Given the description of an element on the screen output the (x, y) to click on. 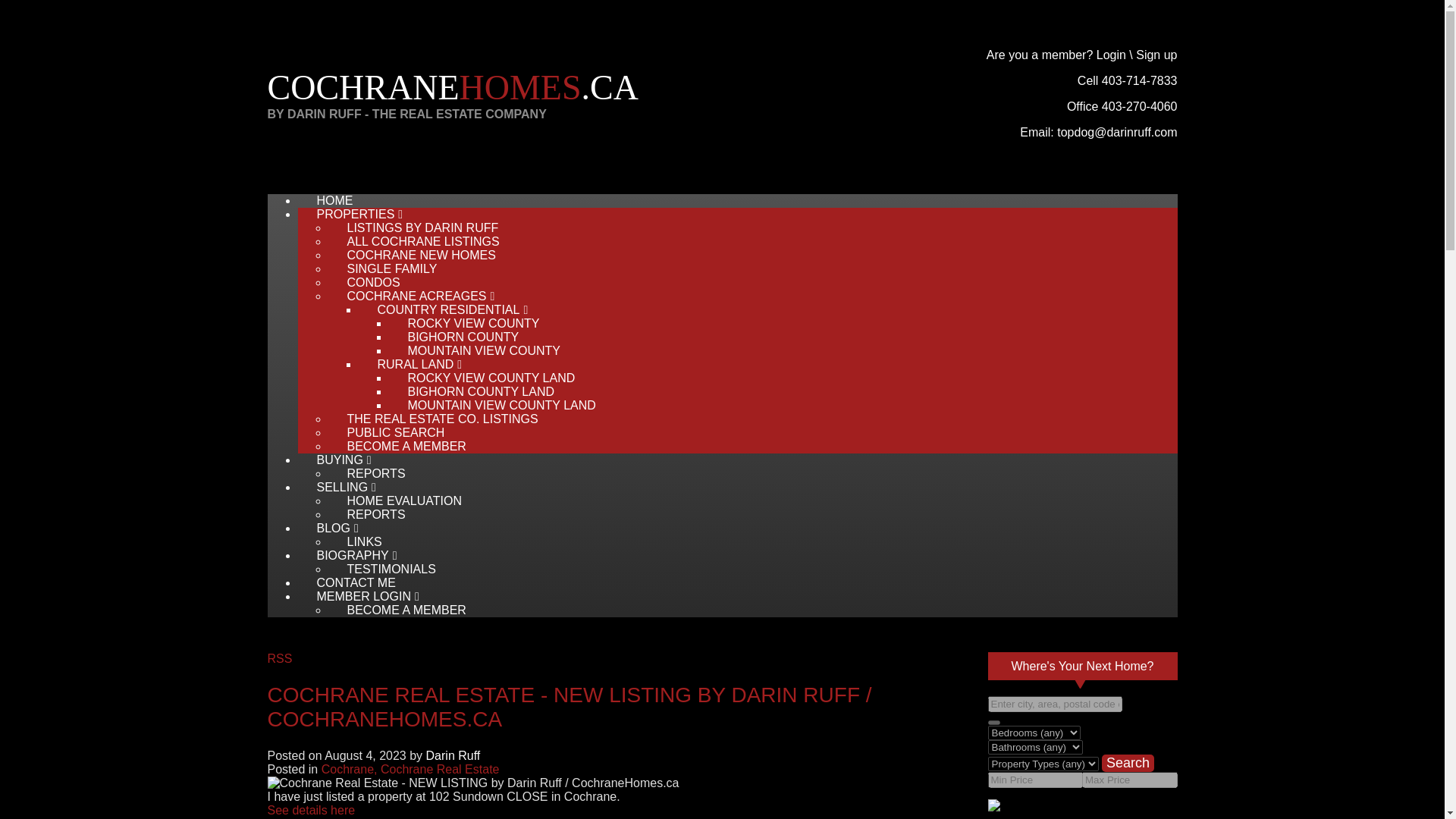
PUBLIC SEARCH (387, 432)
Login (1110, 54)
BLOG (325, 528)
MOUNTAIN VIEW COUNTY (475, 350)
BUYING (331, 459)
BIGHORN COUNTY LAND (472, 391)
BIGHORN COUNTY (455, 336)
COCHRANE ACREAGES (408, 295)
PROPERTIES (347, 213)
CONDOS (365, 282)
SELLING (334, 487)
REPORTS (368, 514)
BECOME A MEMBER (397, 446)
ALL COCHRANE LISTINGS (414, 241)
CONTACT ME (347, 582)
